Given the description of an element on the screen output the (x, y) to click on. 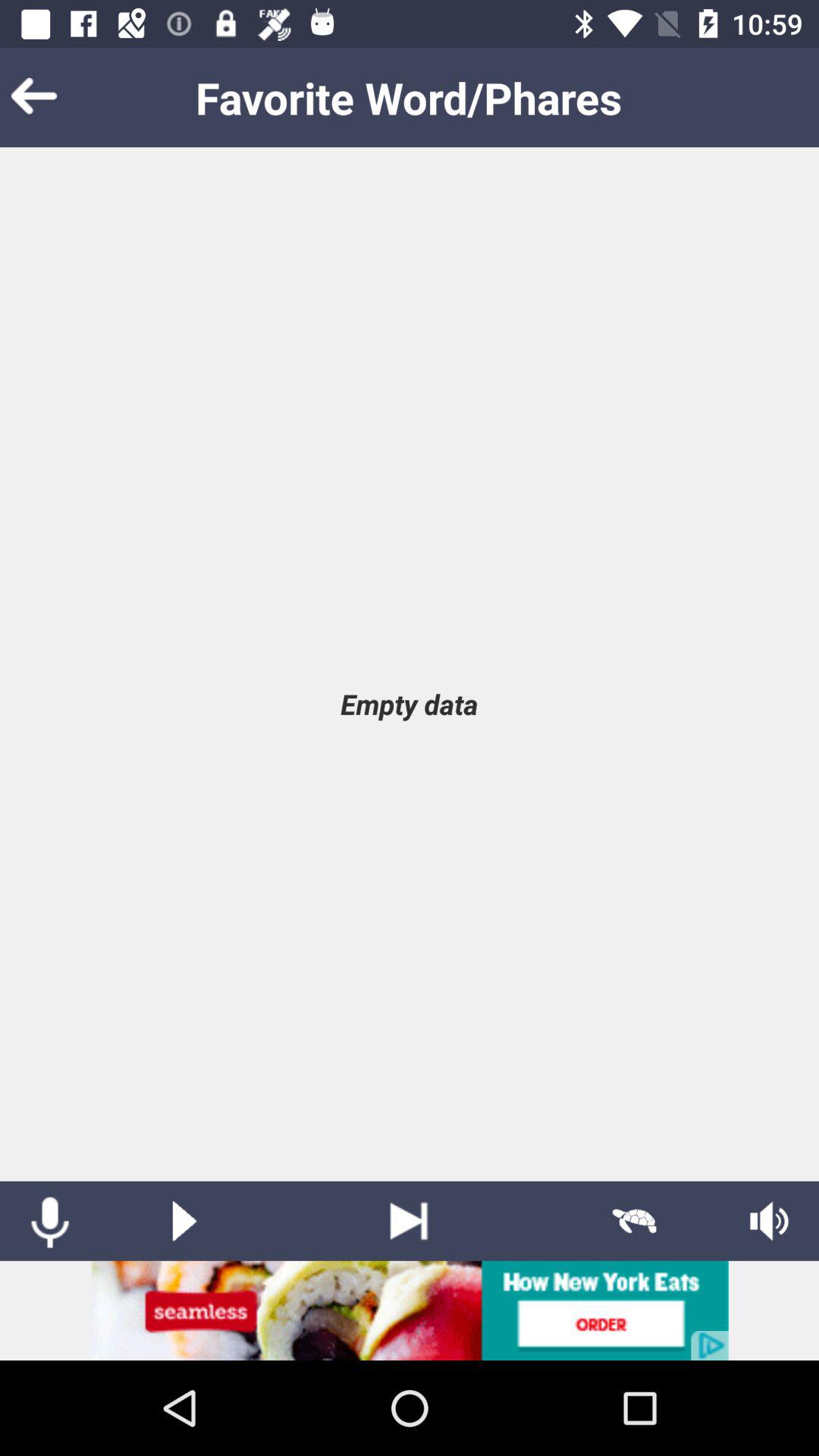
go forward (408, 1220)
